Given the description of an element on the screen output the (x, y) to click on. 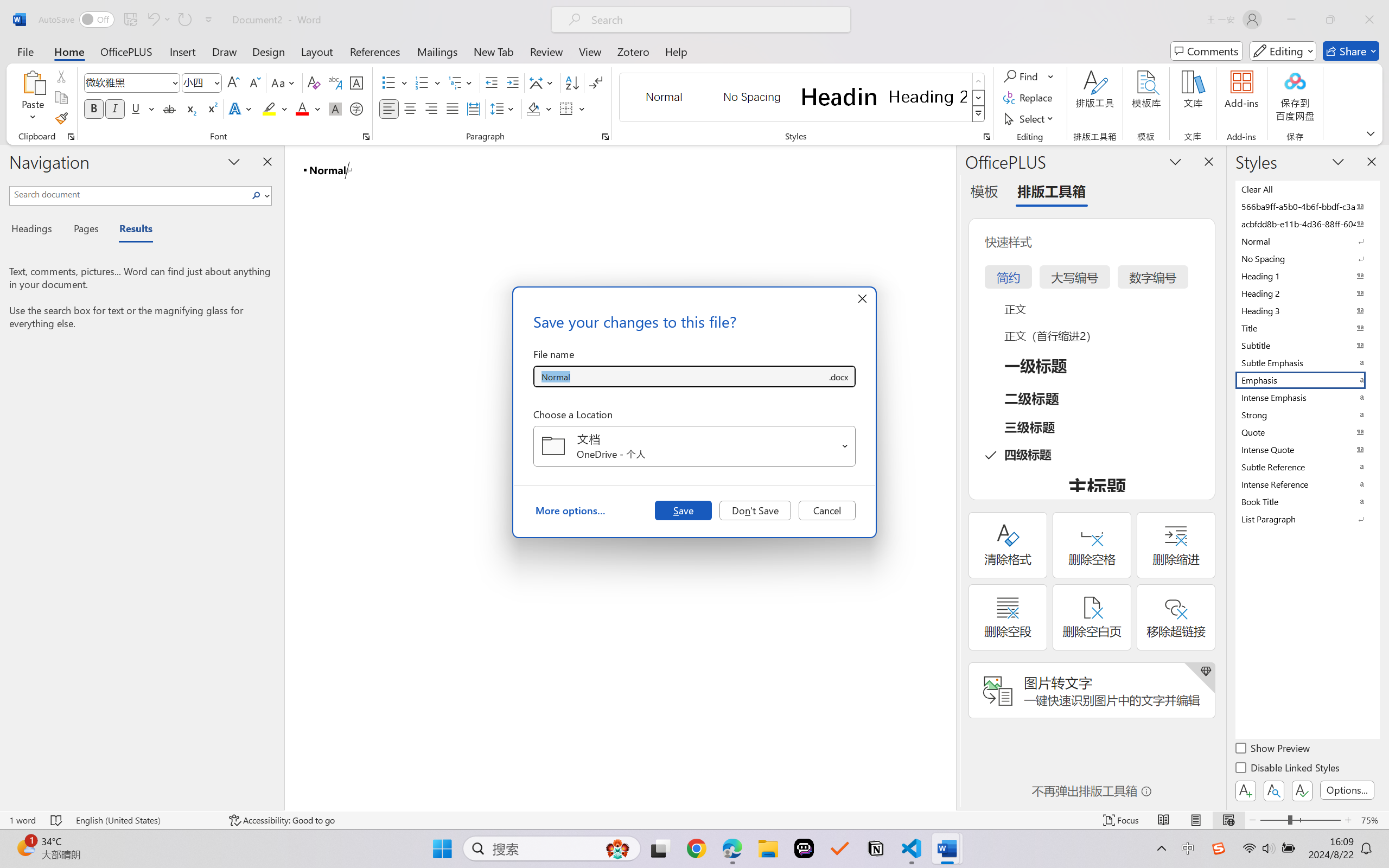
Sort... (571, 82)
Class: MsoCommandBar (694, 819)
Strong (1306, 414)
Borders (566, 108)
Search (256, 195)
No Spacing (1306, 258)
Emphasis (1306, 379)
Zoom In (1348, 819)
Superscript (210, 108)
Replace... (1029, 97)
Poe (804, 848)
Find (1022, 75)
